Given the description of an element on the screen output the (x, y) to click on. 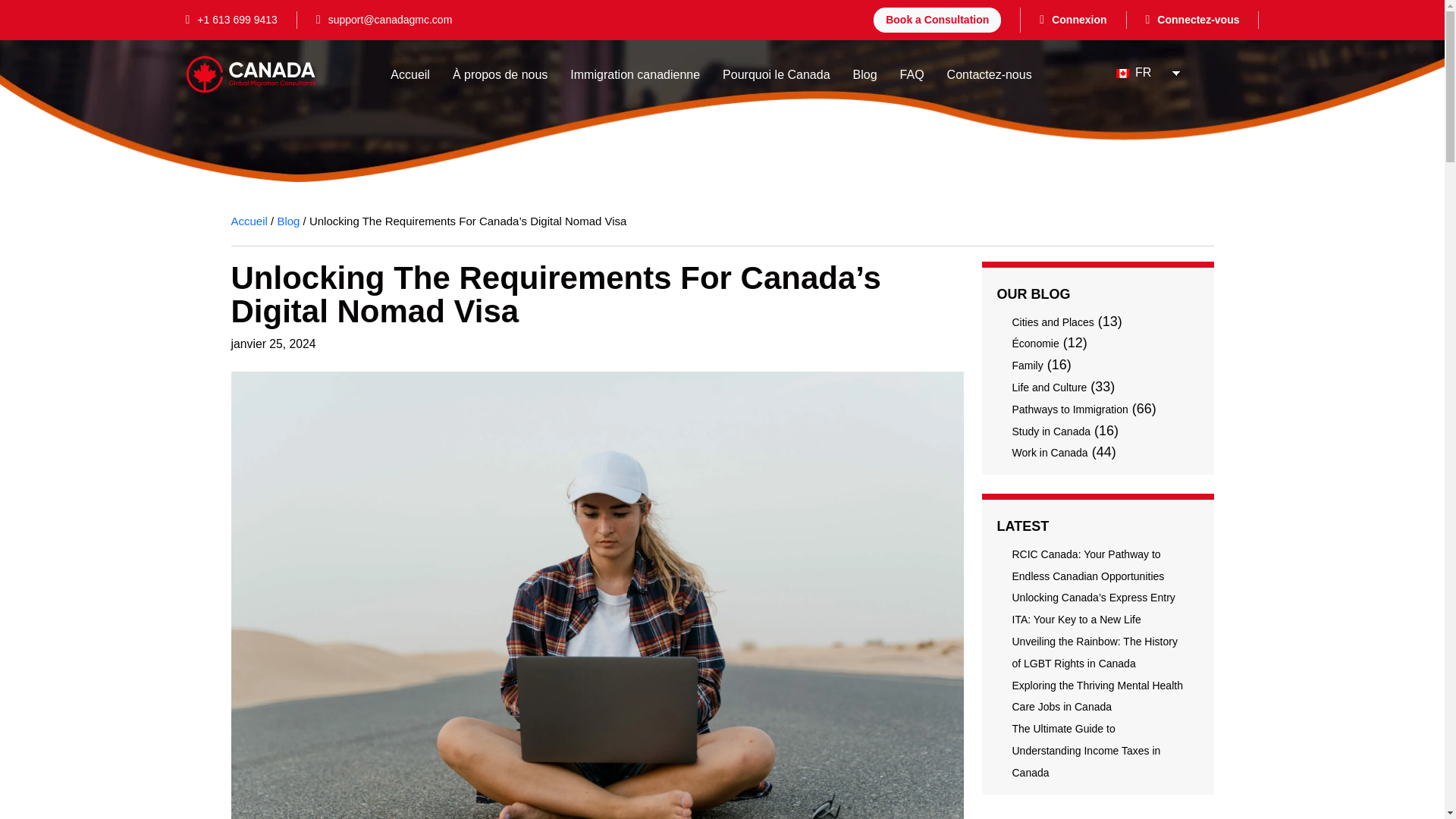
FR (1139, 72)
French (1122, 72)
Immigration canadienne (635, 75)
FAQ (911, 75)
Blog (865, 75)
Book a Consultation (937, 19)
Connexion (1072, 19)
Connectez-vous (1192, 19)
French (1139, 72)
Pourquoi le Canada (775, 75)
Contactez-nous (989, 75)
Accueil (409, 75)
